Given the description of an element on the screen output the (x, y) to click on. 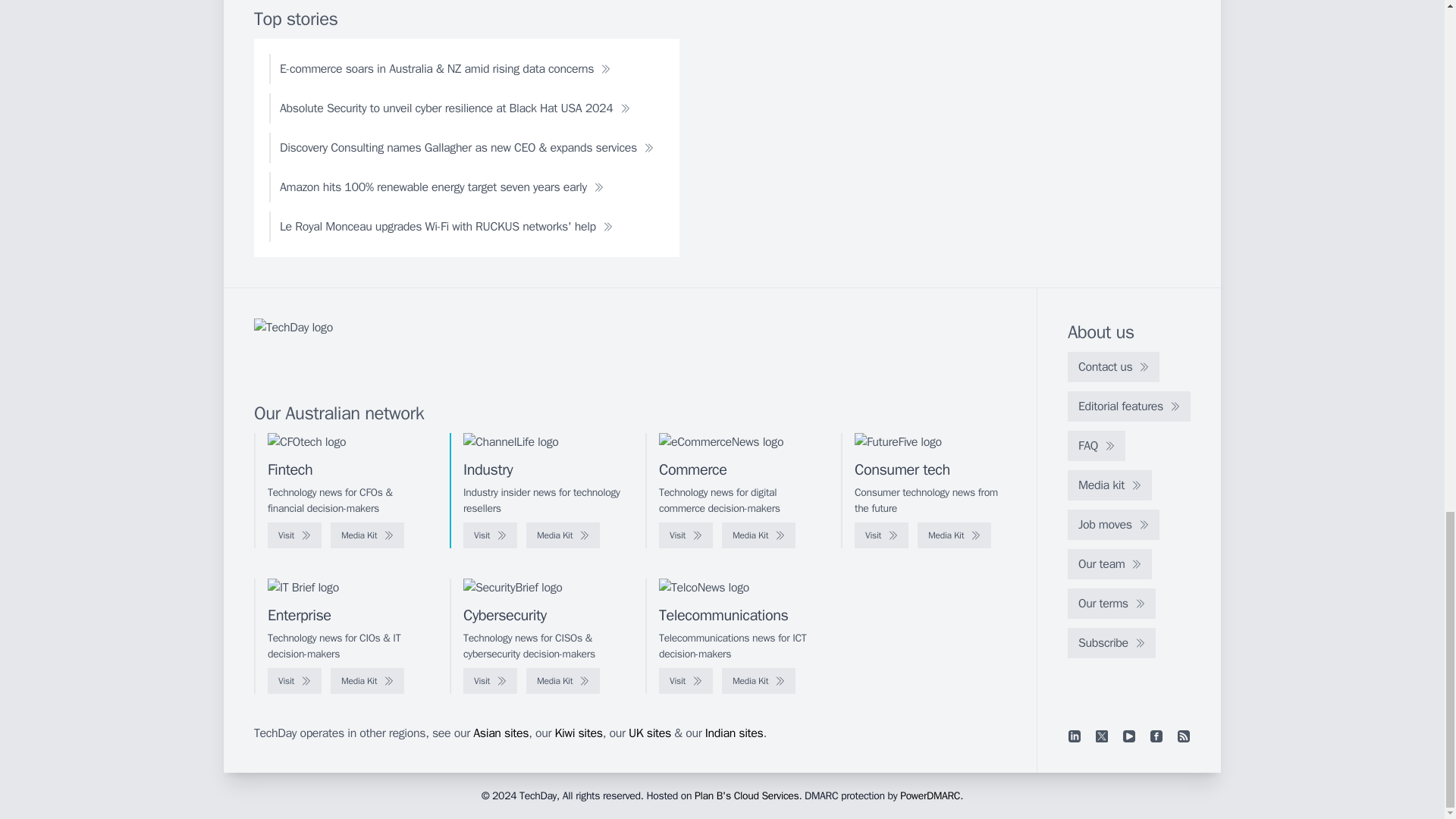
Visit (294, 534)
Media Kit (758, 534)
Visit (686, 534)
Visit (881, 534)
Media Kit (562, 534)
Media Kit (954, 534)
Visit (489, 534)
Le Royal Monceau upgrades Wi-Fi with RUCKUS networks' help (446, 226)
Media Kit (367, 534)
